Given the description of an element on the screen output the (x, y) to click on. 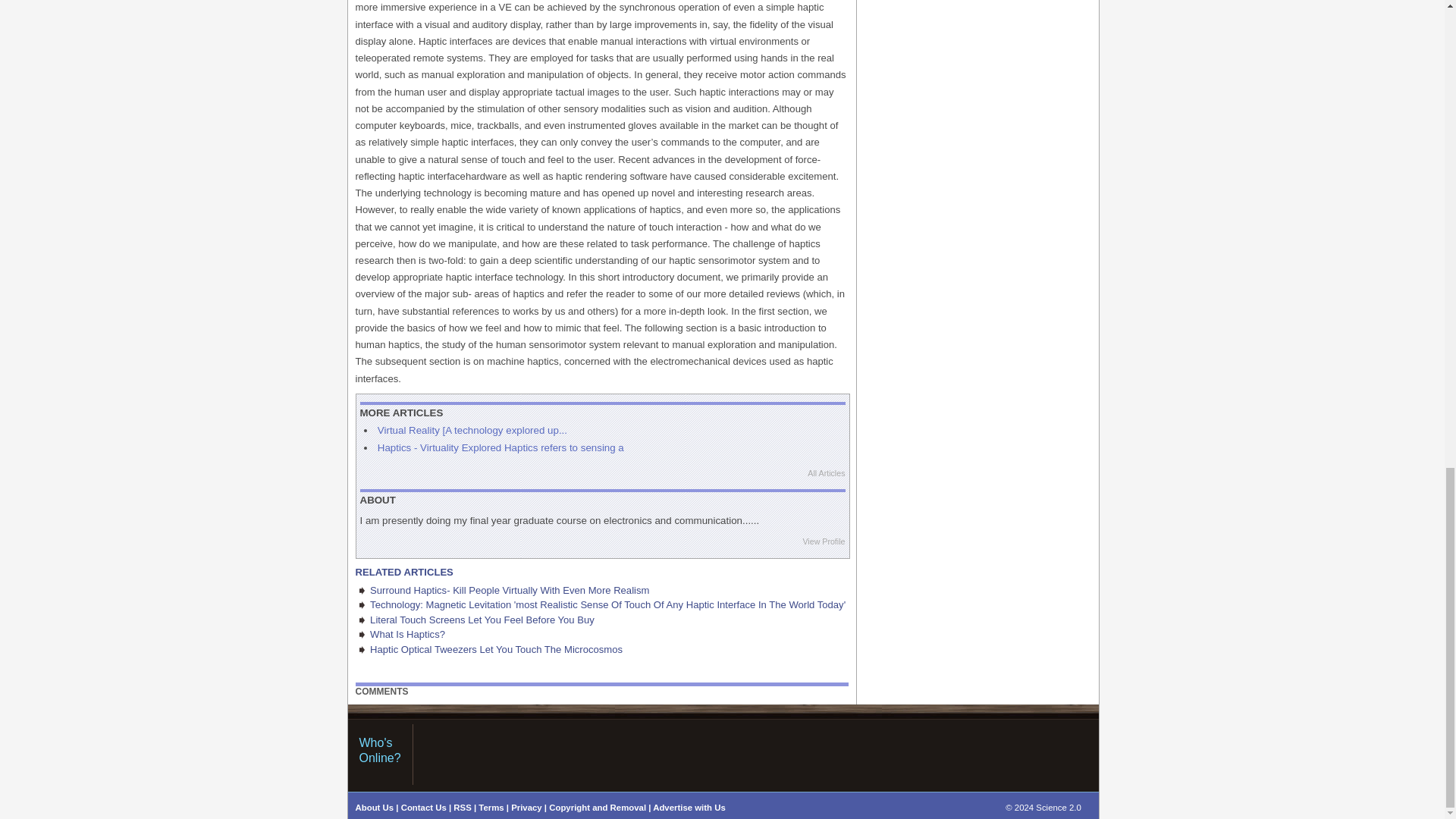
Copyright Terms. (597, 807)
Your Rights to Privacy. (526, 807)
Our Terms of Use. (491, 807)
